Given the description of an element on the screen output the (x, y) to click on. 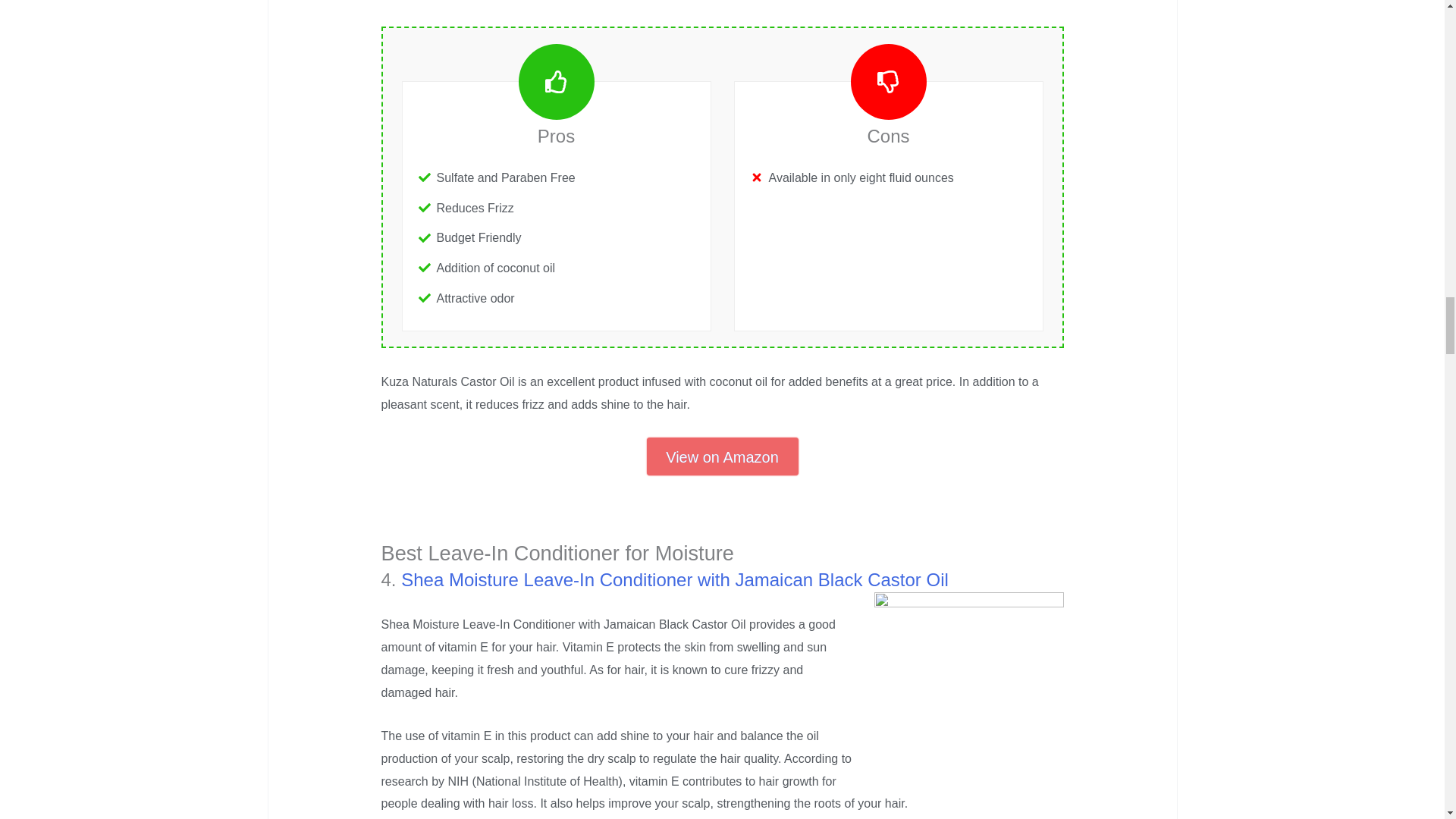
View on Amazon (721, 456)
